Given the description of an element on the screen output the (x, y) to click on. 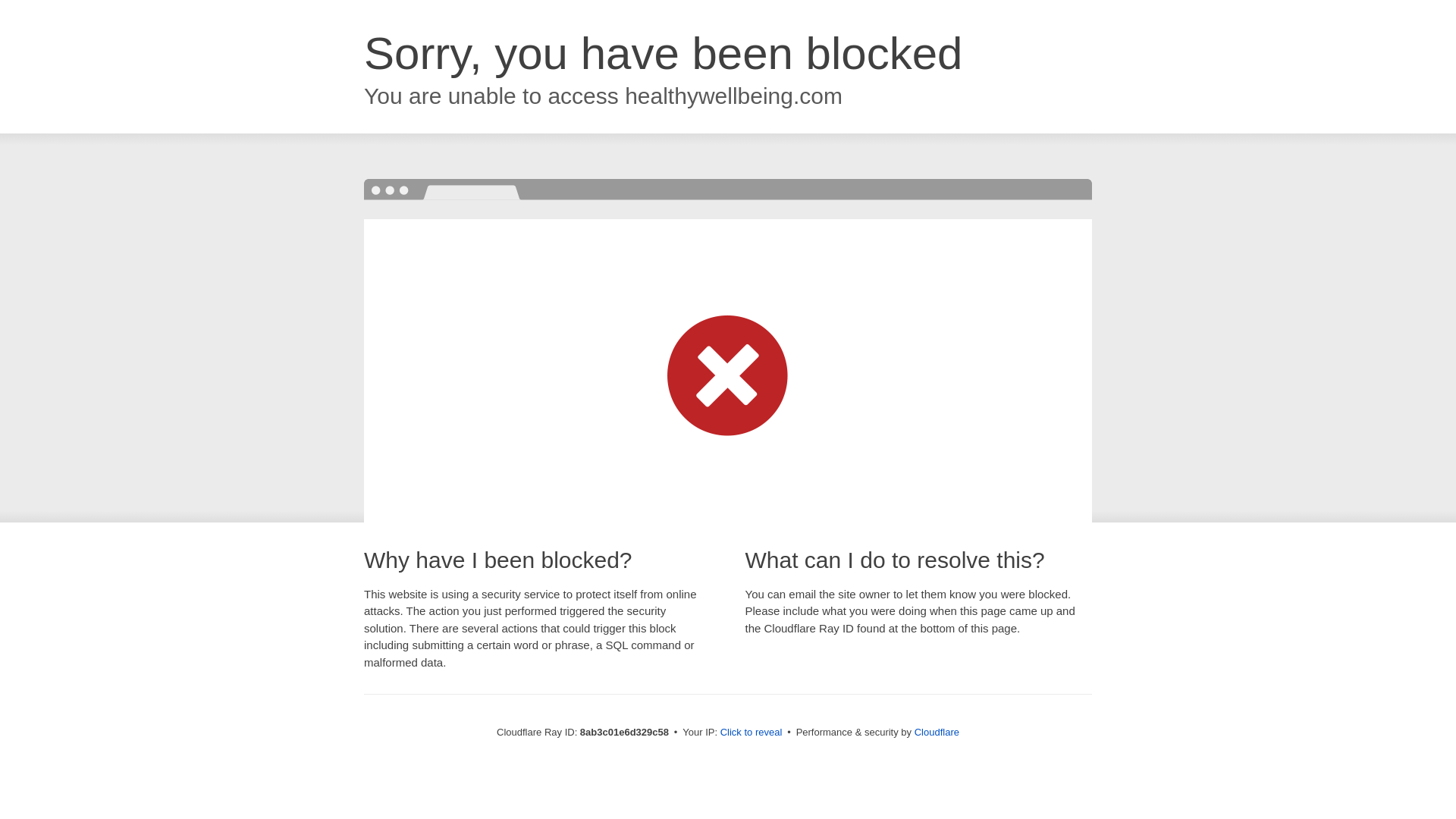
Click to reveal (751, 732)
Cloudflare (936, 731)
